Given the description of an element on the screen output the (x, y) to click on. 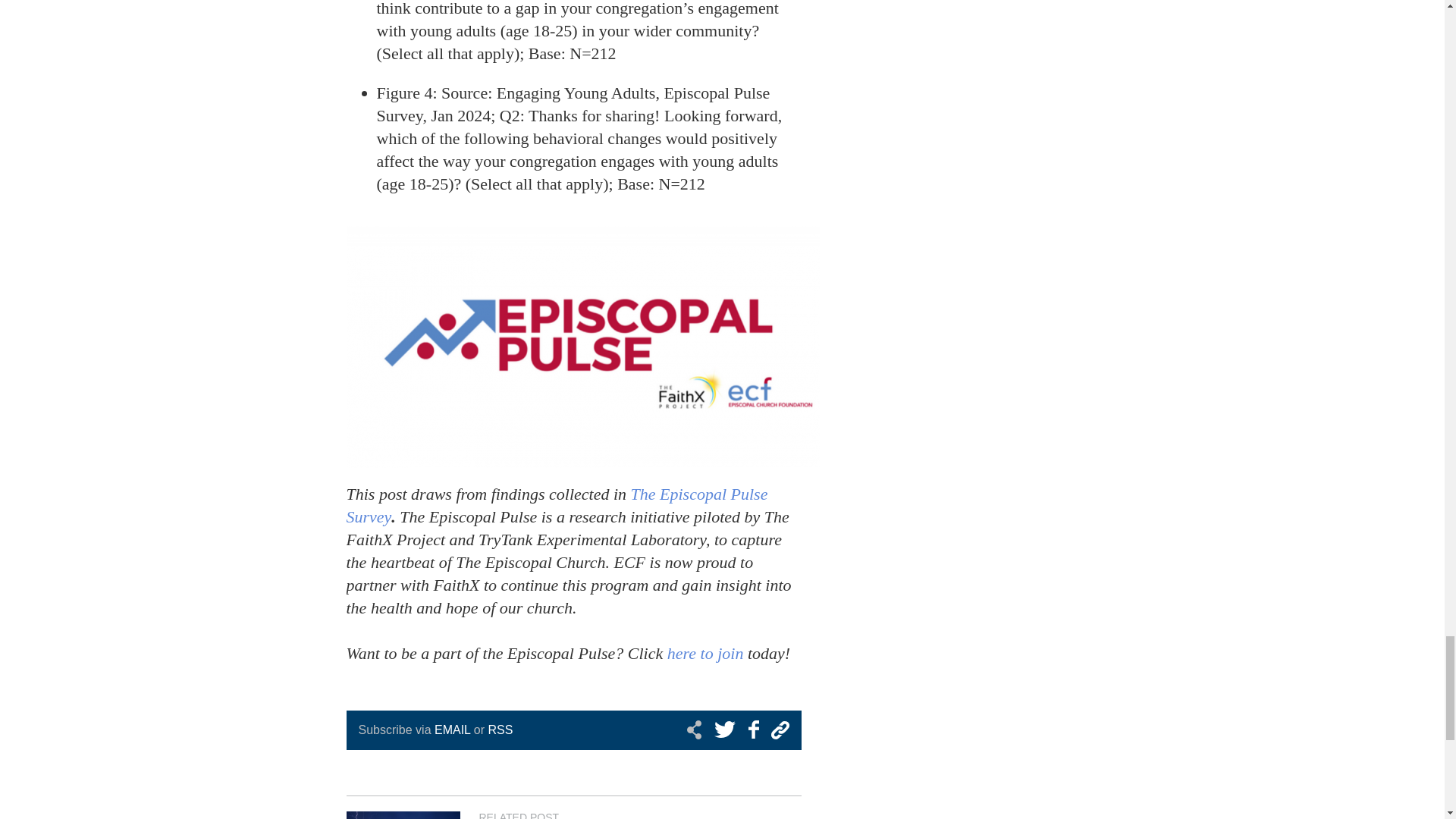
RSS (500, 729)
Share on Facebook (750, 729)
Email a Link (776, 729)
The Episcopal Pulse Survey (556, 505)
Share on Twitter (726, 729)
here to join (705, 652)
EMAIL (451, 729)
